Given the description of an element on the screen output the (x, y) to click on. 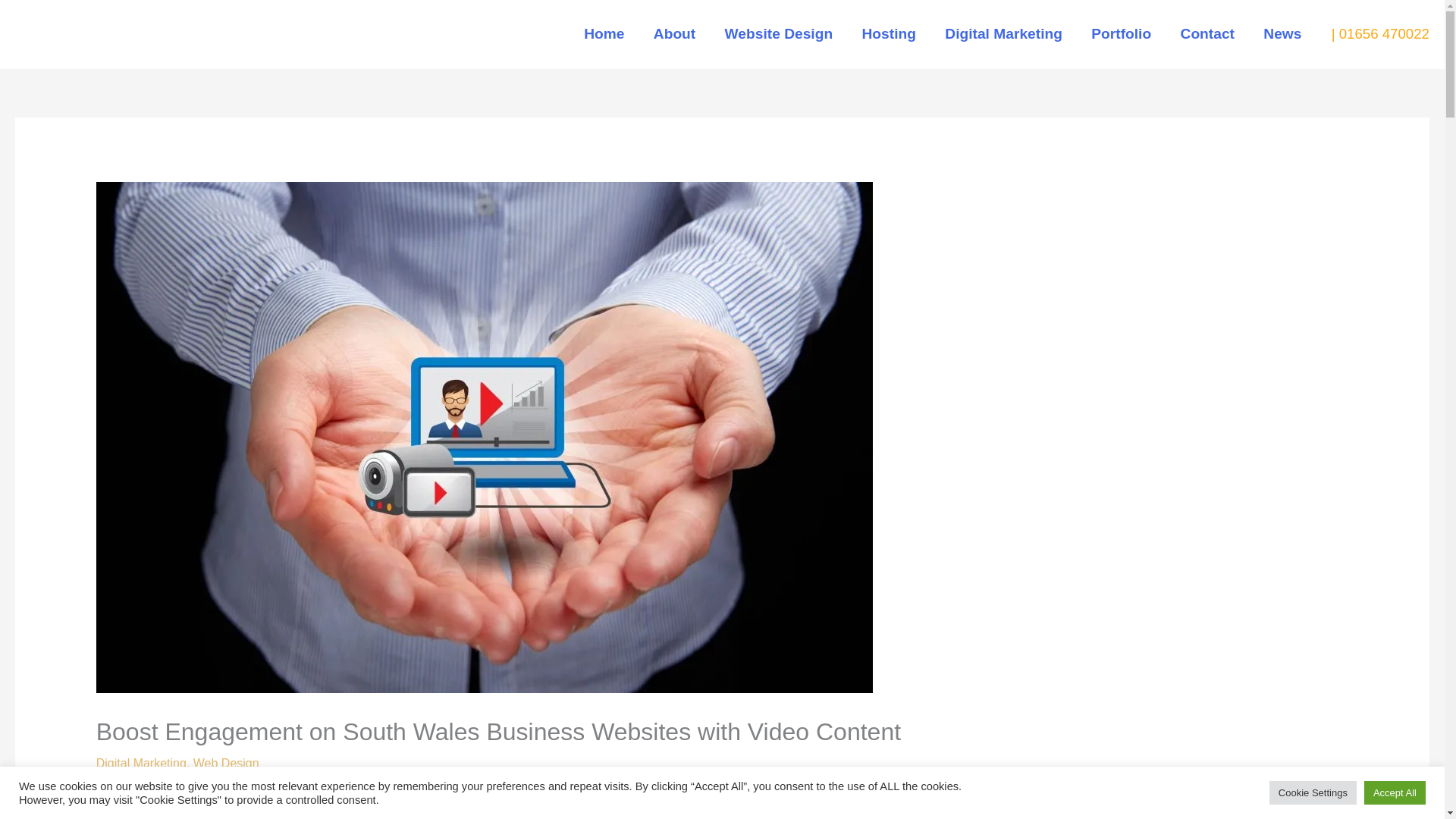
Hosting (888, 33)
Contact (1207, 33)
News (1282, 33)
About (674, 33)
Website Design (778, 33)
Home (604, 33)
Portfolio (1121, 33)
Digital Marketing (1003, 33)
